Given the description of an element on the screen output the (x, y) to click on. 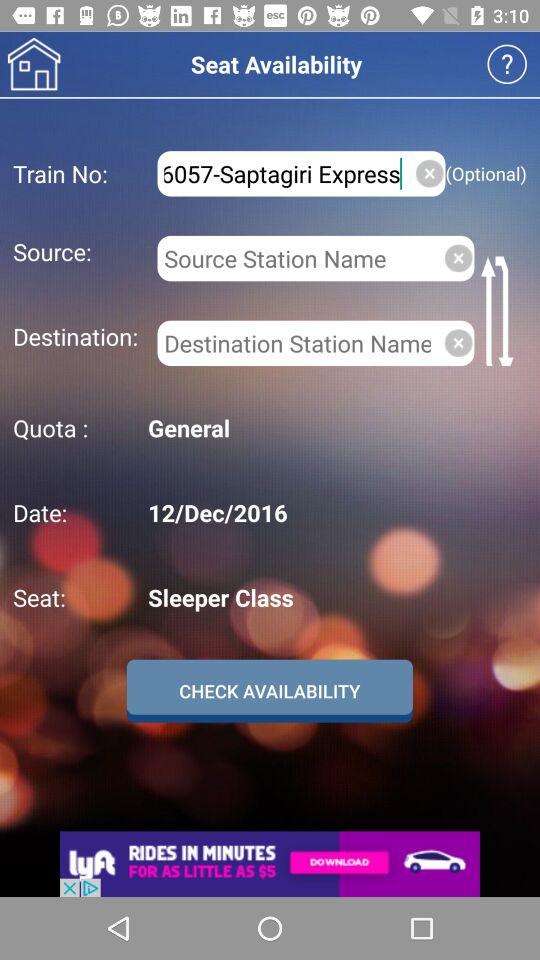
enter destination station name (296, 343)
